Given the description of an element on the screen output the (x, y) to click on. 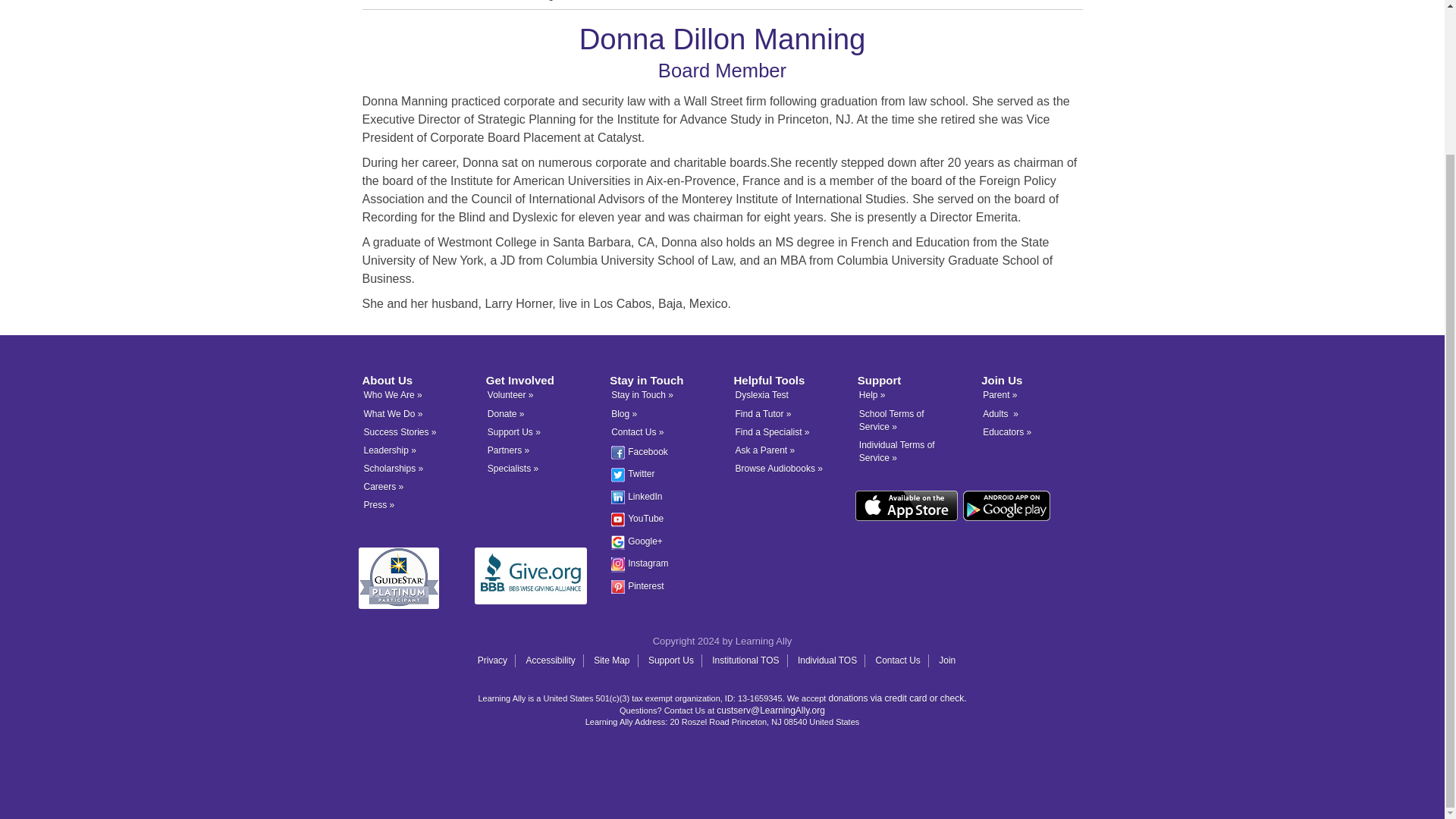
About Us (382, 0)
Support Us (513, 431)
Donate (505, 413)
Our Team (430, 0)
Leadership (390, 450)
What We Do (393, 413)
Learning Ally Guidestar page (417, 578)
Press (379, 504)
Success Stories (400, 431)
Volunteer (510, 394)
Careers (384, 486)
Partners (508, 450)
Who We Are (393, 394)
Scholarships (393, 468)
